Given the description of an element on the screen output the (x, y) to click on. 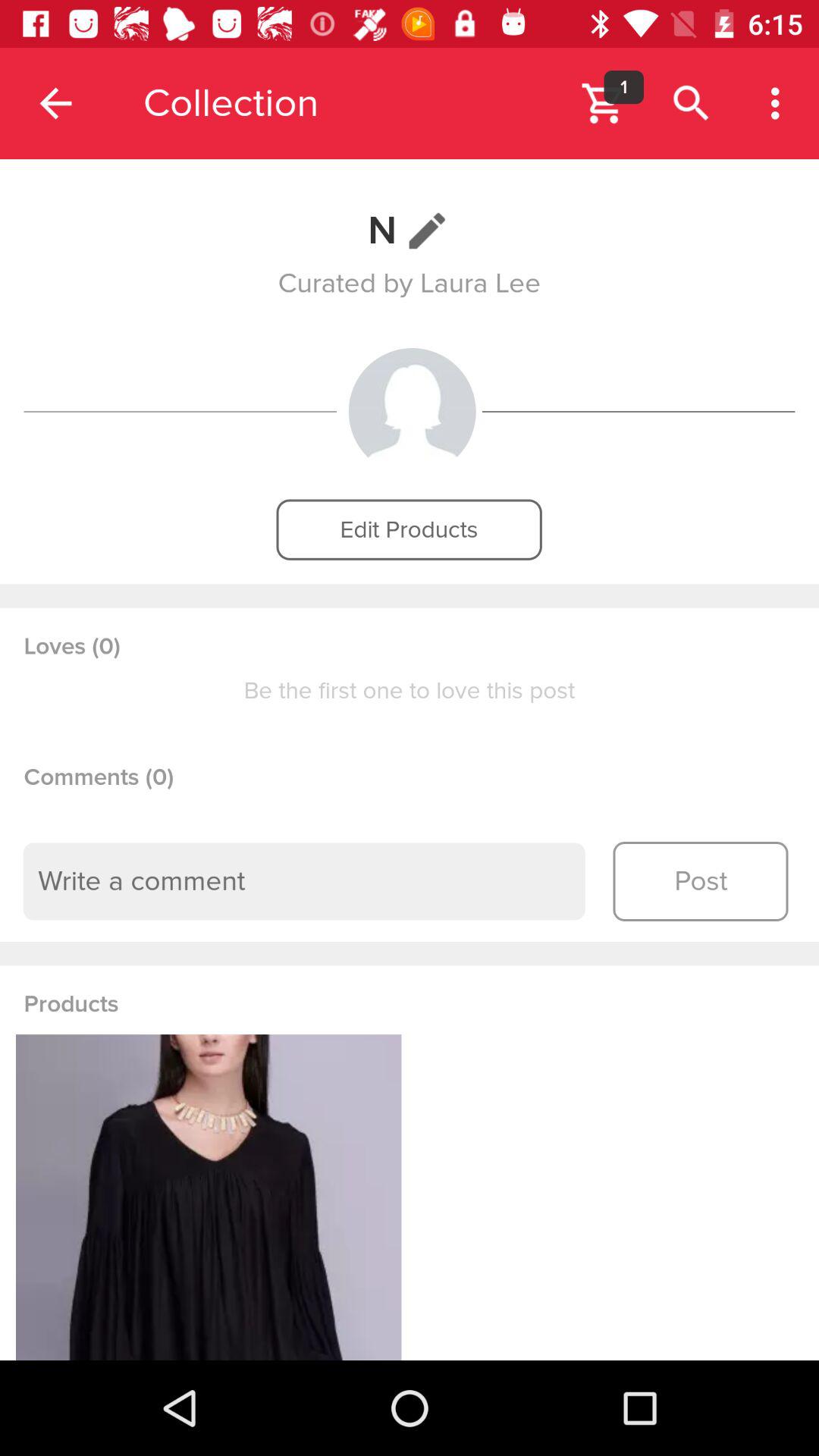
choose icon to the left of post icon (304, 881)
